Given the description of an element on the screen output the (x, y) to click on. 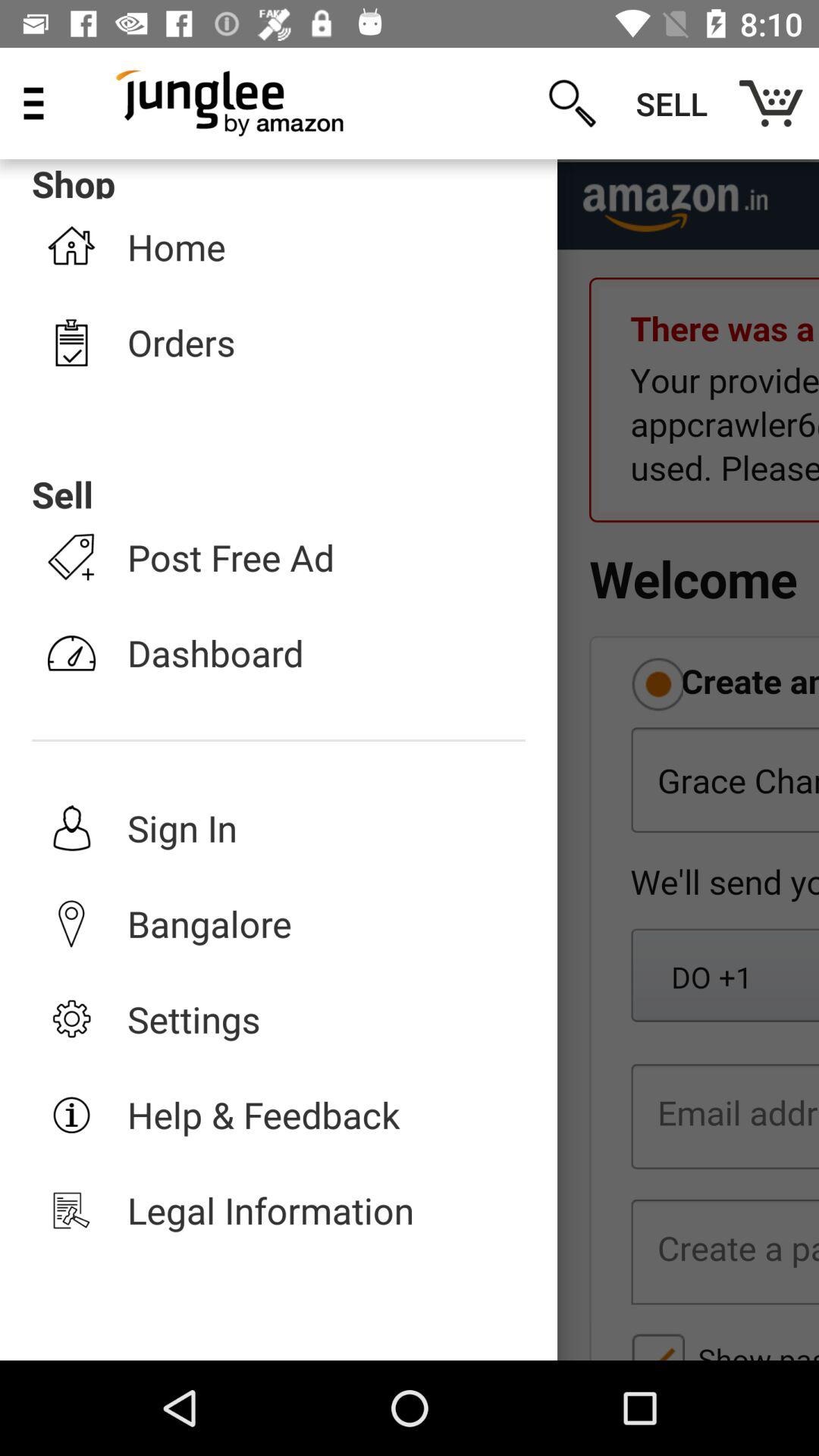
tap the item next to the sell (571, 103)
